Given the description of an element on the screen output the (x, y) to click on. 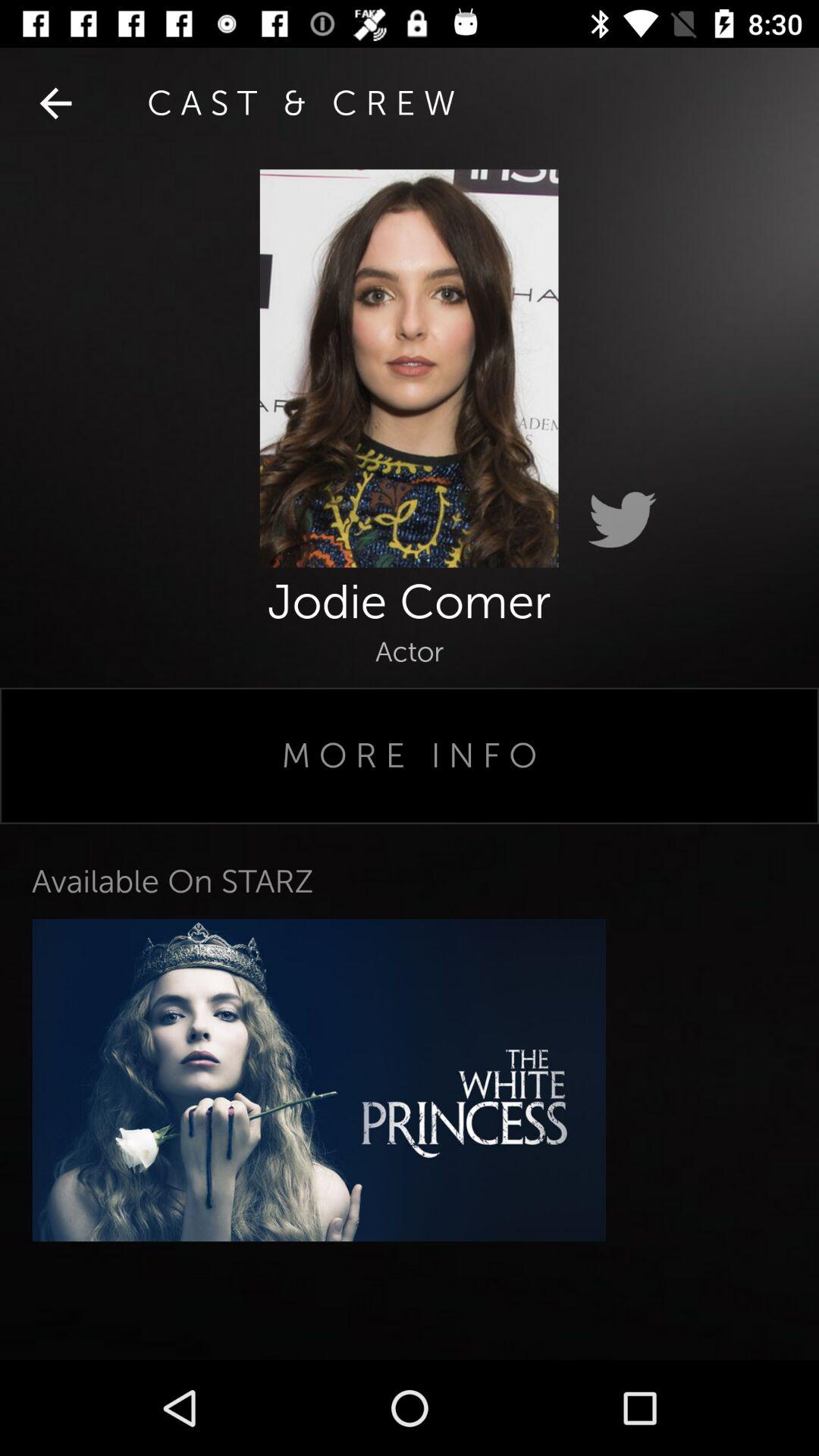
turn on the item on the right (622, 520)
